Given the description of an element on the screen output the (x, y) to click on. 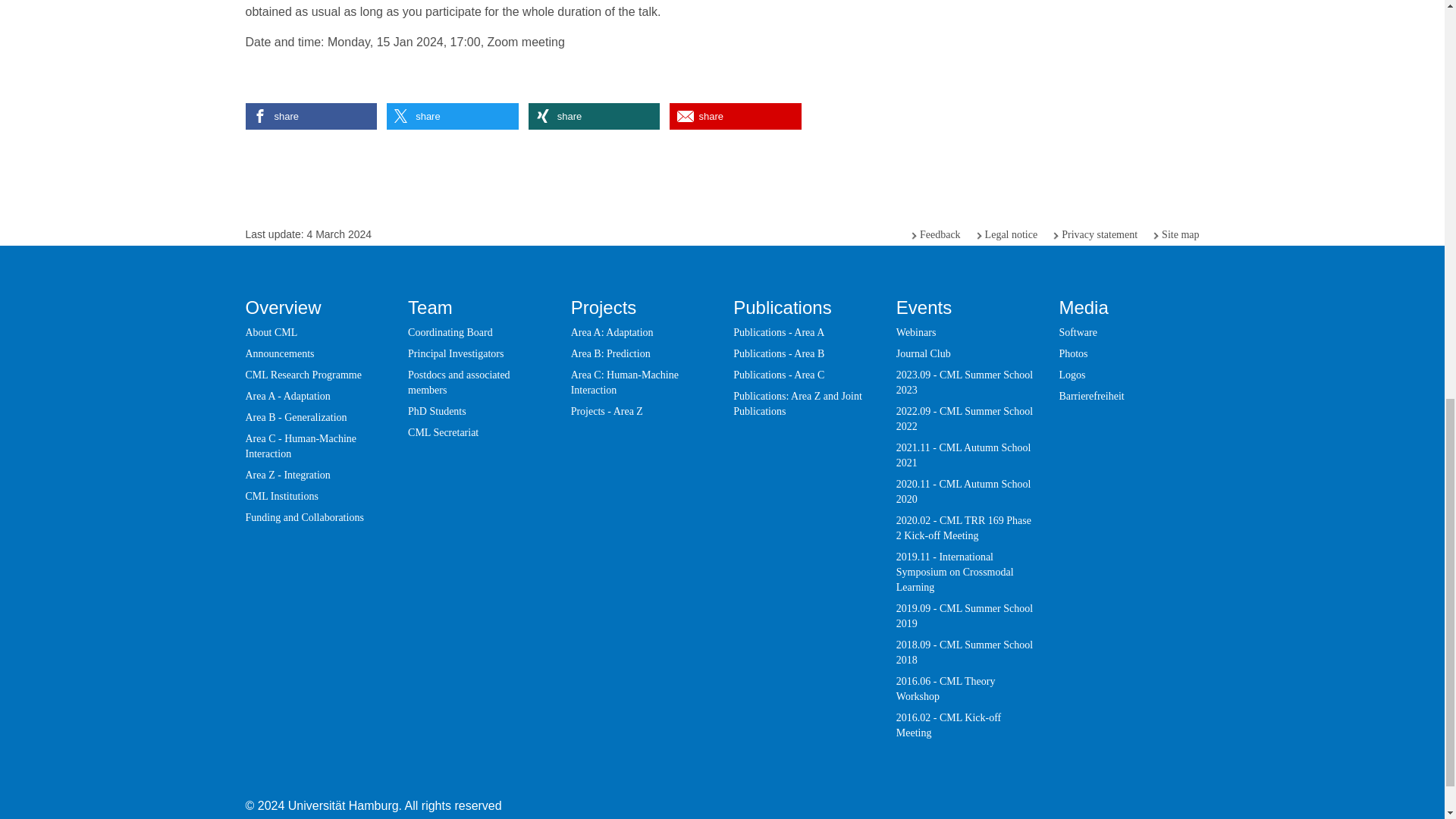
Share on X (452, 116)
Share on Facebook (311, 116)
Share with e-mail (734, 116)
Share on Xing (593, 116)
